Given the description of an element on the screen output the (x, y) to click on. 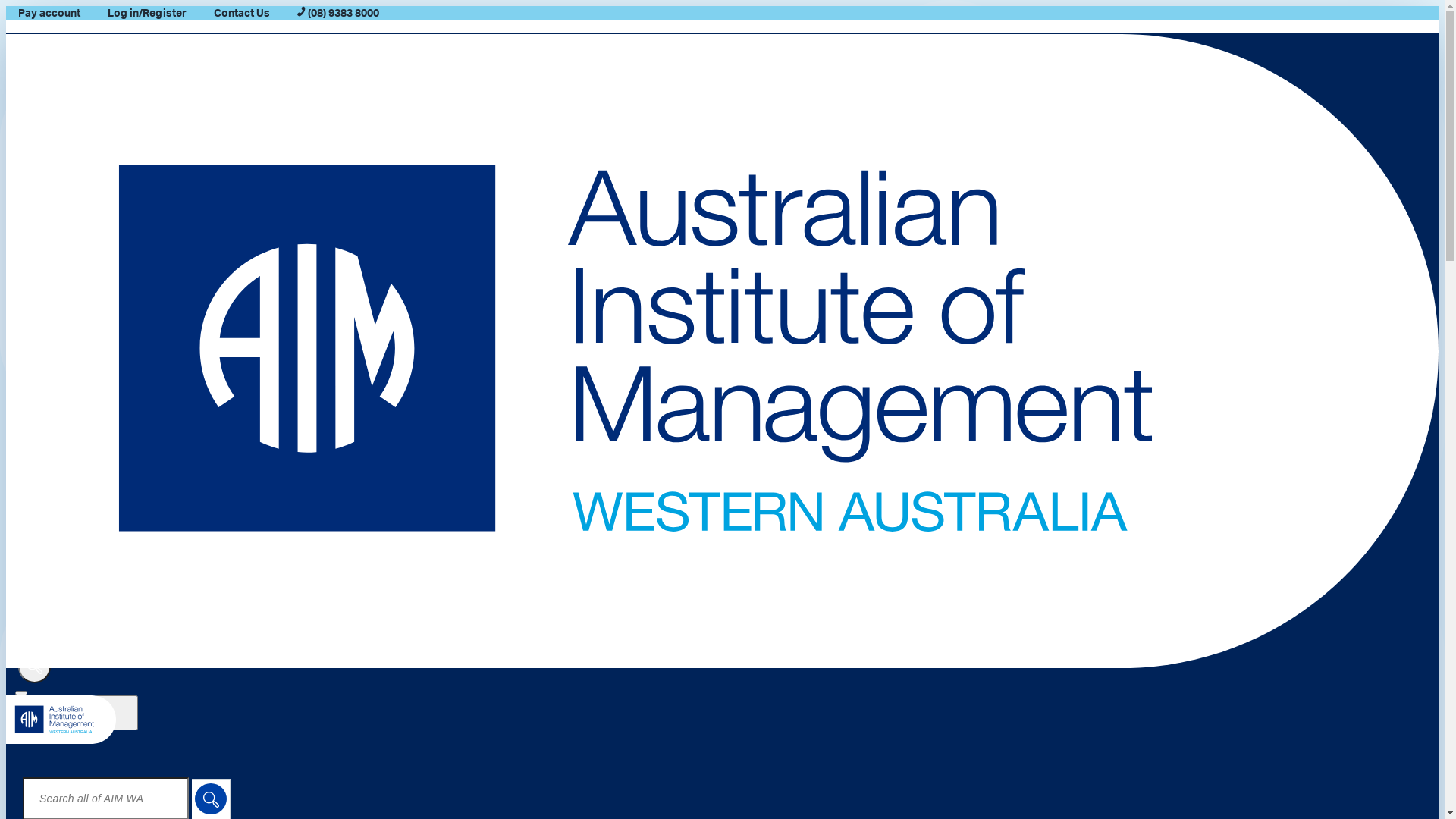
Australia Element type: text (752, 288)
Find a Qualification Element type: text (752, 174)
Reconciliation Action Plan Element type: text (752, 497)
About AIM WA Element type: text (752, 402)
Log in/Register Element type: text (146, 13)
Our People Element type: text (752, 421)
Uluru Statement from the Heart Element type: text (752, 478)
Organisational Development Element type: text (737, 269)
Contact Us Element type: text (752, 535)
Contact Us Element type: text (241, 13)
Events Element type: text (736, 250)
Course Categories Element type: text (752, 80)
Qualifications, Policies and Procedures Element type: text (752, 231)
Venue Element type: text (752, 440)
International Element type: text (752, 307)
MBA and Higher Education Element type: text (752, 193)
Corporate Membership Element type: text (752, 364)
About Us Element type: text (737, 383)
Find a Course Element type: text (752, 61)
Regional Training Courses Element type: text (752, 117)
Community Training Grants Element type: text (752, 459)
AIM WA + UWA Business School Executive Education Element type: text (751, 99)
Workplace Conversations Element type: text (737, 554)
Professional Membership Element type: text (752, 345)
Courses Element type: text (737, 42)
Virtual Courses Element type: text (752, 136)
Pay account Element type: text (49, 13)
Membership Element type: text (737, 326)
(08) 9383 8000 Element type: text (338, 13)
Vocational Certificates and Diplomas Element type: text (752, 212)
AIM WA Strategic Plan 2021 - 2025 Element type: text (752, 516)
Qualifications Element type: text (737, 155)
